Given the description of an element on the screen output the (x, y) to click on. 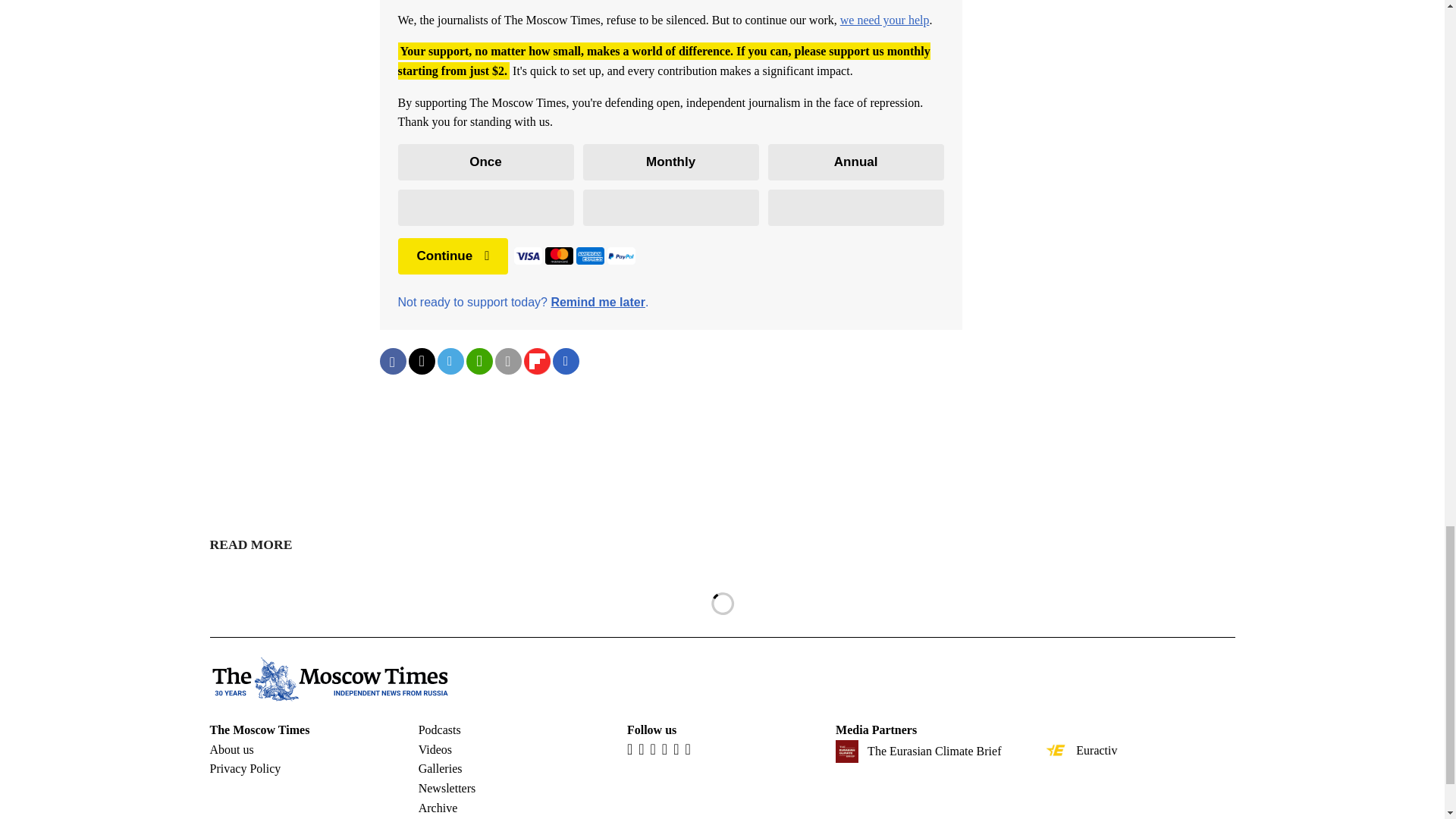
Share on Twitter (420, 361)
Share on Facebook (392, 361)
Share on Telegram (449, 361)
Share on Flipboard (536, 361)
we need your help (885, 19)
